Given the description of an element on the screen output the (x, y) to click on. 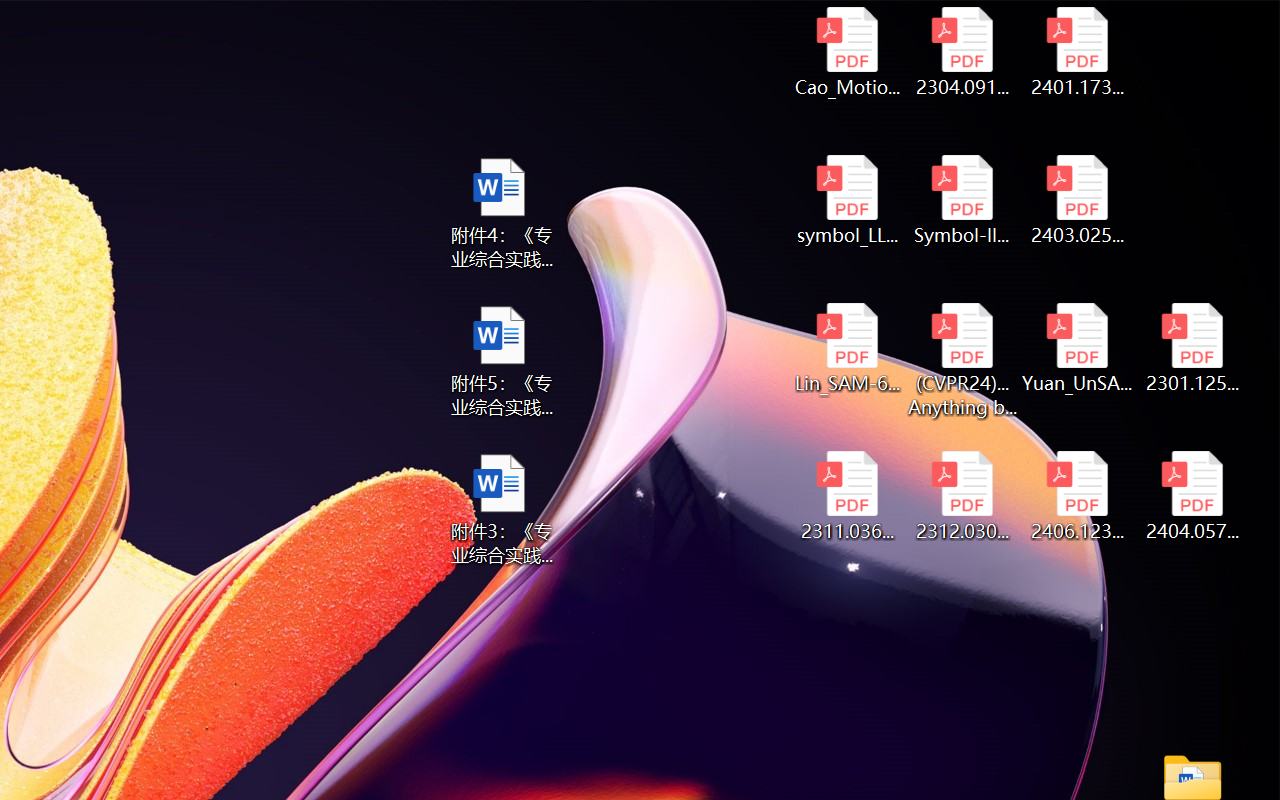
2301.12597v3.pdf (1192, 348)
